Given the description of an element on the screen output the (x, y) to click on. 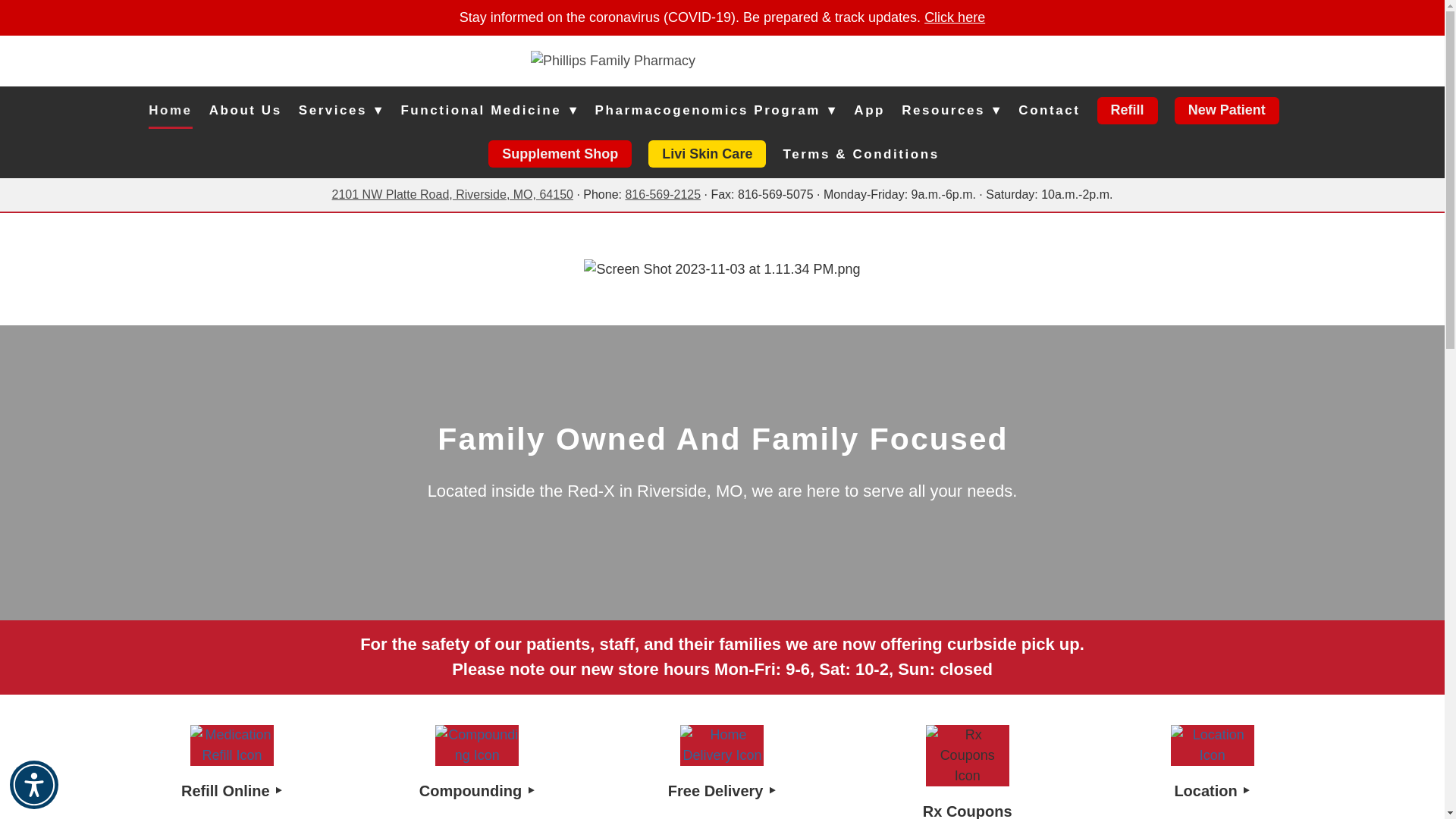
Click this button to refill a prescription (231, 744)
Click this button to view details of our delivery service (720, 744)
Accessibility Menu (34, 784)
New Patient (1226, 110)
Phillips Family Pharmacy (722, 60)
Contact (1048, 110)
Click this button to view our coupons (967, 755)
Livi Skin Care (706, 153)
Home (170, 110)
Refill (1127, 110)
Click this button to view our compounding services (476, 744)
Supplement Shop (559, 153)
About Us (245, 110)
